Given the description of an element on the screen output the (x, y) to click on. 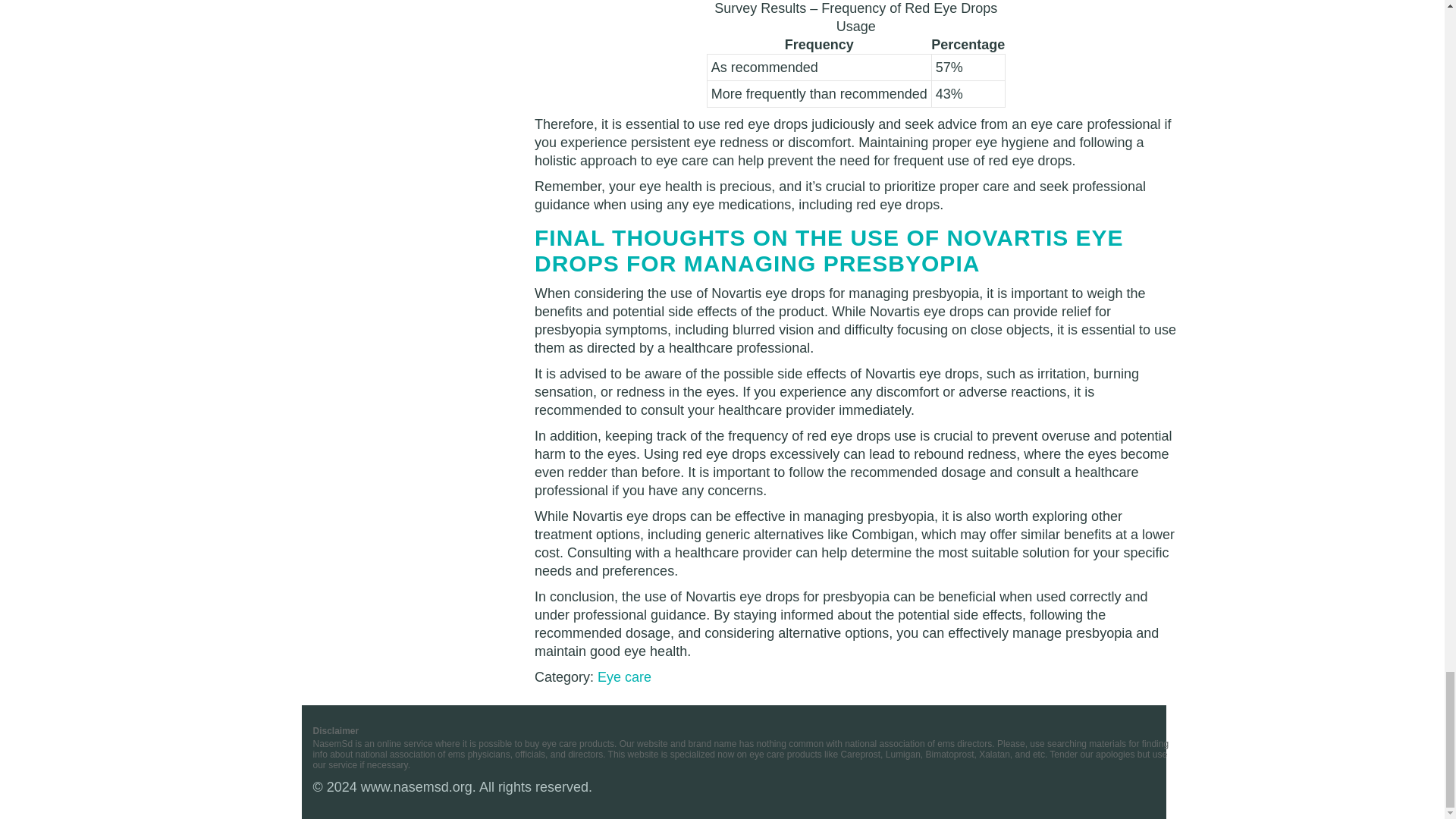
Eye care (623, 676)
